Given the description of an element on the screen output the (x, y) to click on. 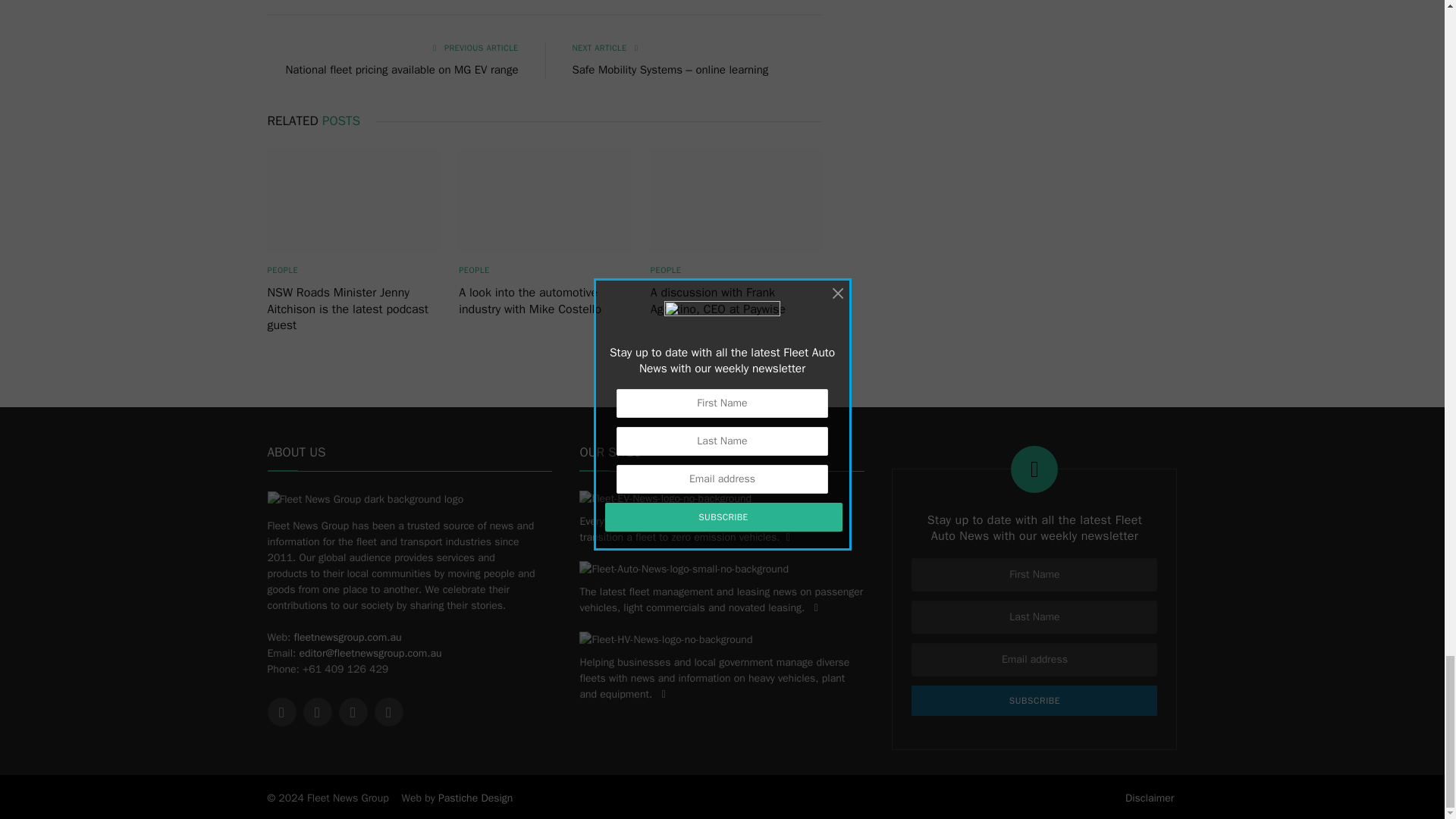
Subscribe (1034, 700)
